Given the description of an element on the screen output the (x, y) to click on. 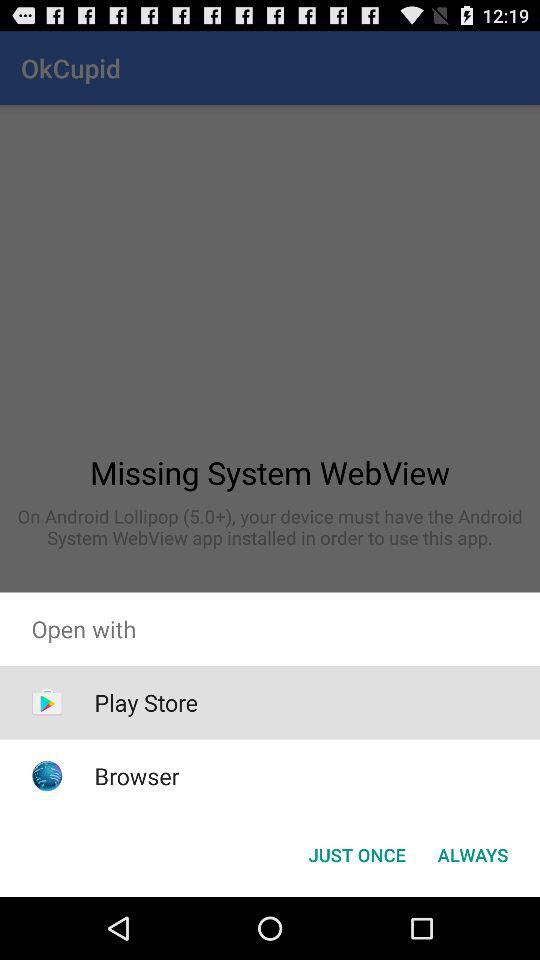
scroll until the always (472, 854)
